Given the description of an element on the screen output the (x, y) to click on. 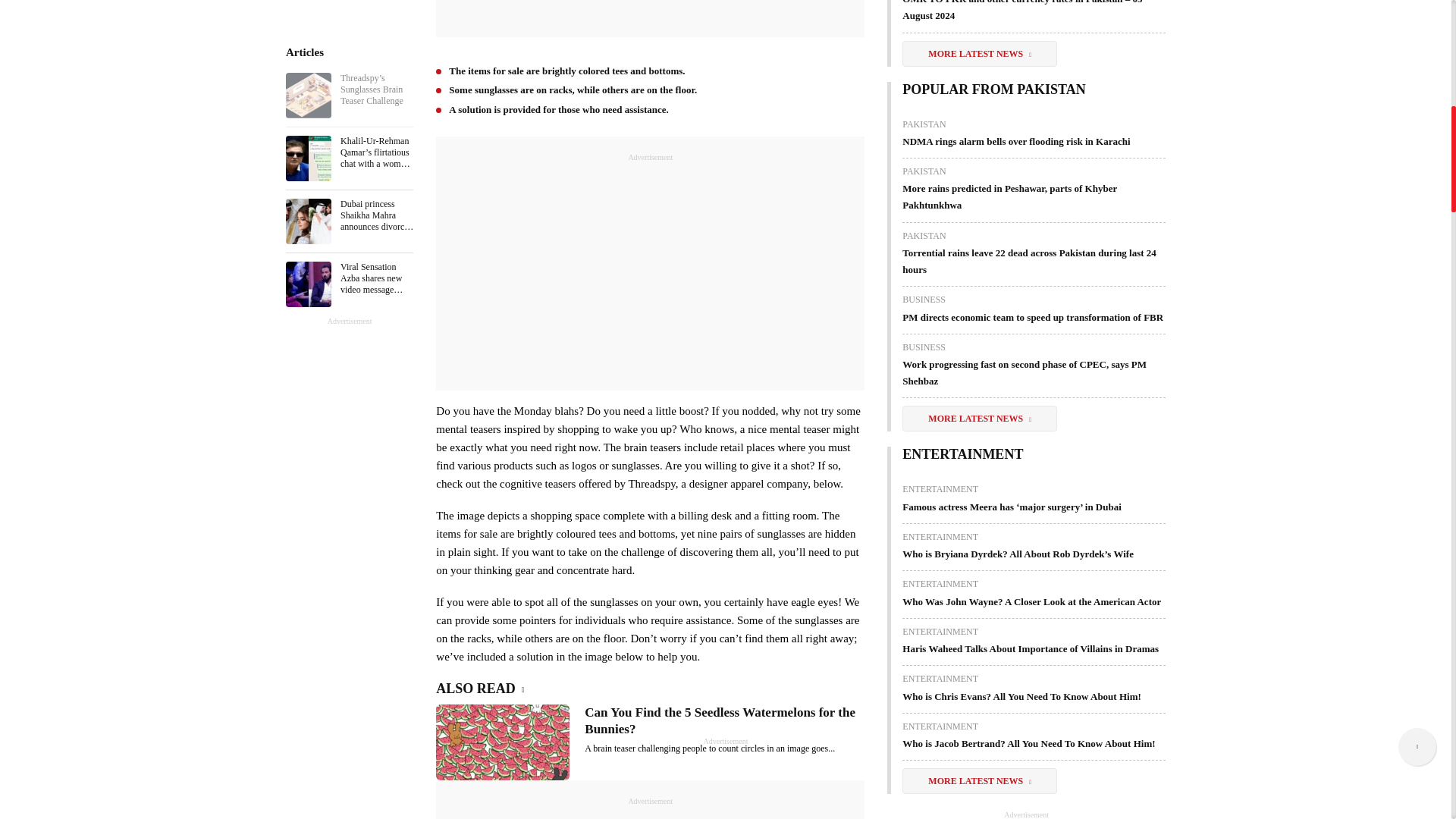
Advertisement (649, 268)
Advertisement (649, 812)
Advertisement (650, 16)
